Given the description of an element on the screen output the (x, y) to click on. 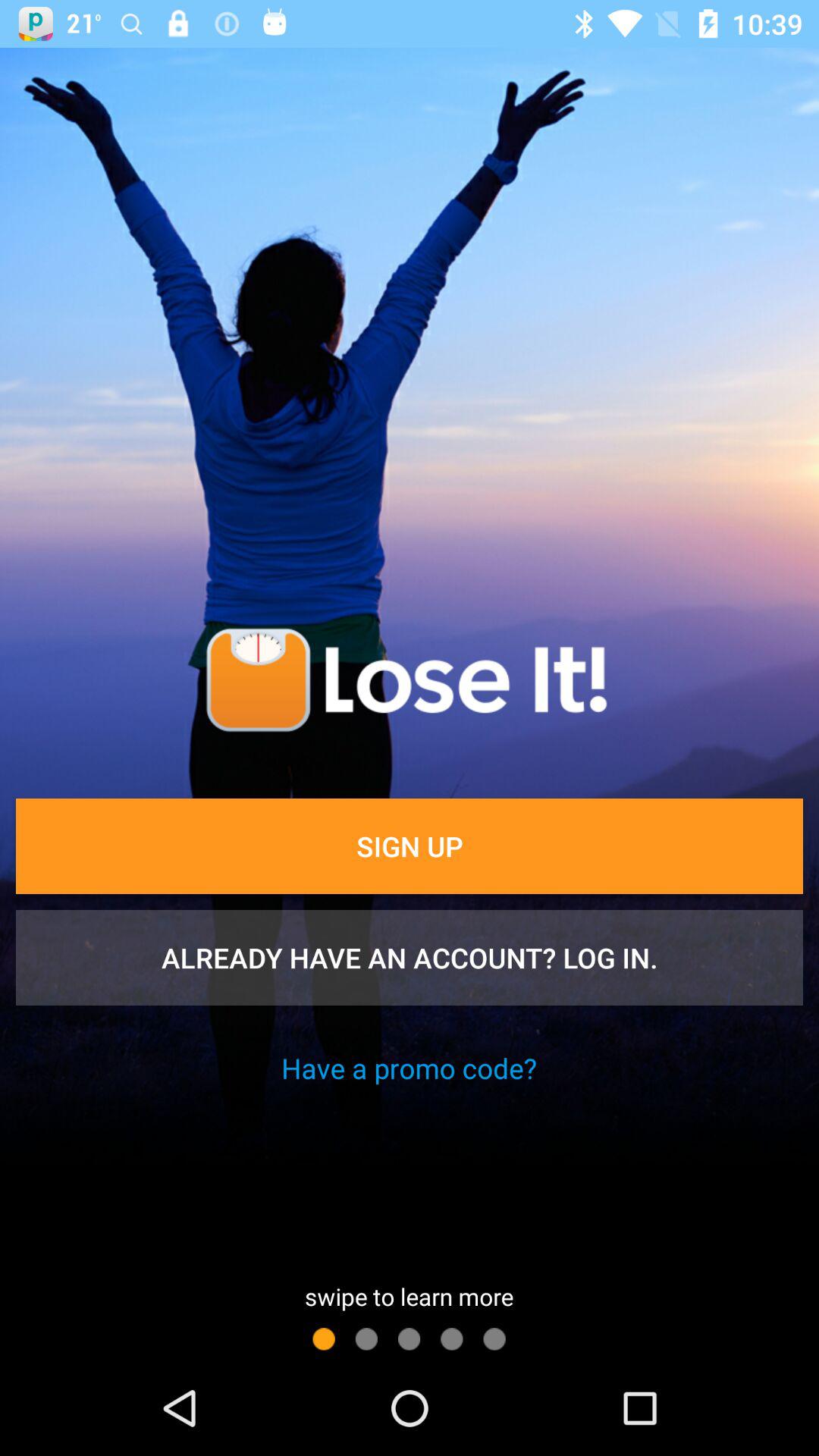
press item above already have an item (409, 846)
